Given the description of an element on the screen output the (x, y) to click on. 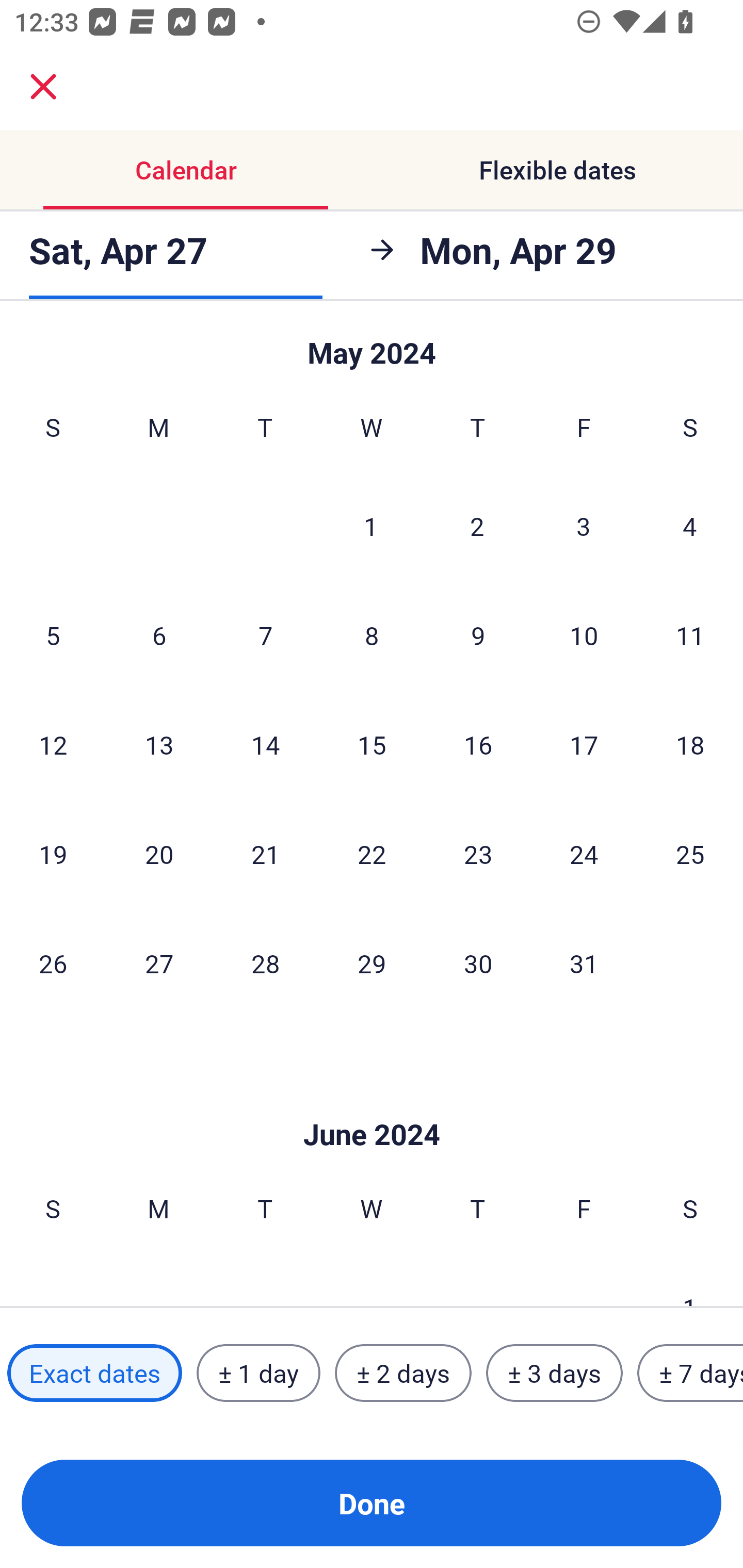
close. (43, 86)
Flexible dates (557, 170)
1 Wednesday, May 1, 2024 (371, 525)
2 Thursday, May 2, 2024 (477, 525)
3 Friday, May 3, 2024 (583, 525)
4 Saturday, May 4, 2024 (689, 525)
5 Sunday, May 5, 2024 (53, 634)
6 Monday, May 6, 2024 (159, 634)
7 Tuesday, May 7, 2024 (265, 634)
8 Wednesday, May 8, 2024 (371, 634)
9 Thursday, May 9, 2024 (477, 634)
10 Friday, May 10, 2024 (584, 634)
11 Saturday, May 11, 2024 (690, 634)
12 Sunday, May 12, 2024 (53, 744)
13 Monday, May 13, 2024 (159, 744)
14 Tuesday, May 14, 2024 (265, 744)
15 Wednesday, May 15, 2024 (371, 744)
16 Thursday, May 16, 2024 (477, 744)
17 Friday, May 17, 2024 (584, 744)
18 Saturday, May 18, 2024 (690, 744)
19 Sunday, May 19, 2024 (53, 853)
20 Monday, May 20, 2024 (159, 853)
21 Tuesday, May 21, 2024 (265, 853)
22 Wednesday, May 22, 2024 (371, 853)
23 Thursday, May 23, 2024 (477, 853)
24 Friday, May 24, 2024 (584, 853)
25 Saturday, May 25, 2024 (690, 853)
26 Sunday, May 26, 2024 (53, 963)
27 Monday, May 27, 2024 (159, 963)
28 Tuesday, May 28, 2024 (265, 963)
29 Wednesday, May 29, 2024 (371, 963)
30 Thursday, May 30, 2024 (477, 963)
31 Friday, May 31, 2024 (584, 963)
Skip to Done (371, 1103)
Exact dates (94, 1372)
± 1 day (258, 1372)
± 2 days (403, 1372)
± 3 days (553, 1372)
± 7 days (690, 1372)
Done (371, 1502)
